Given the description of an element on the screen output the (x, y) to click on. 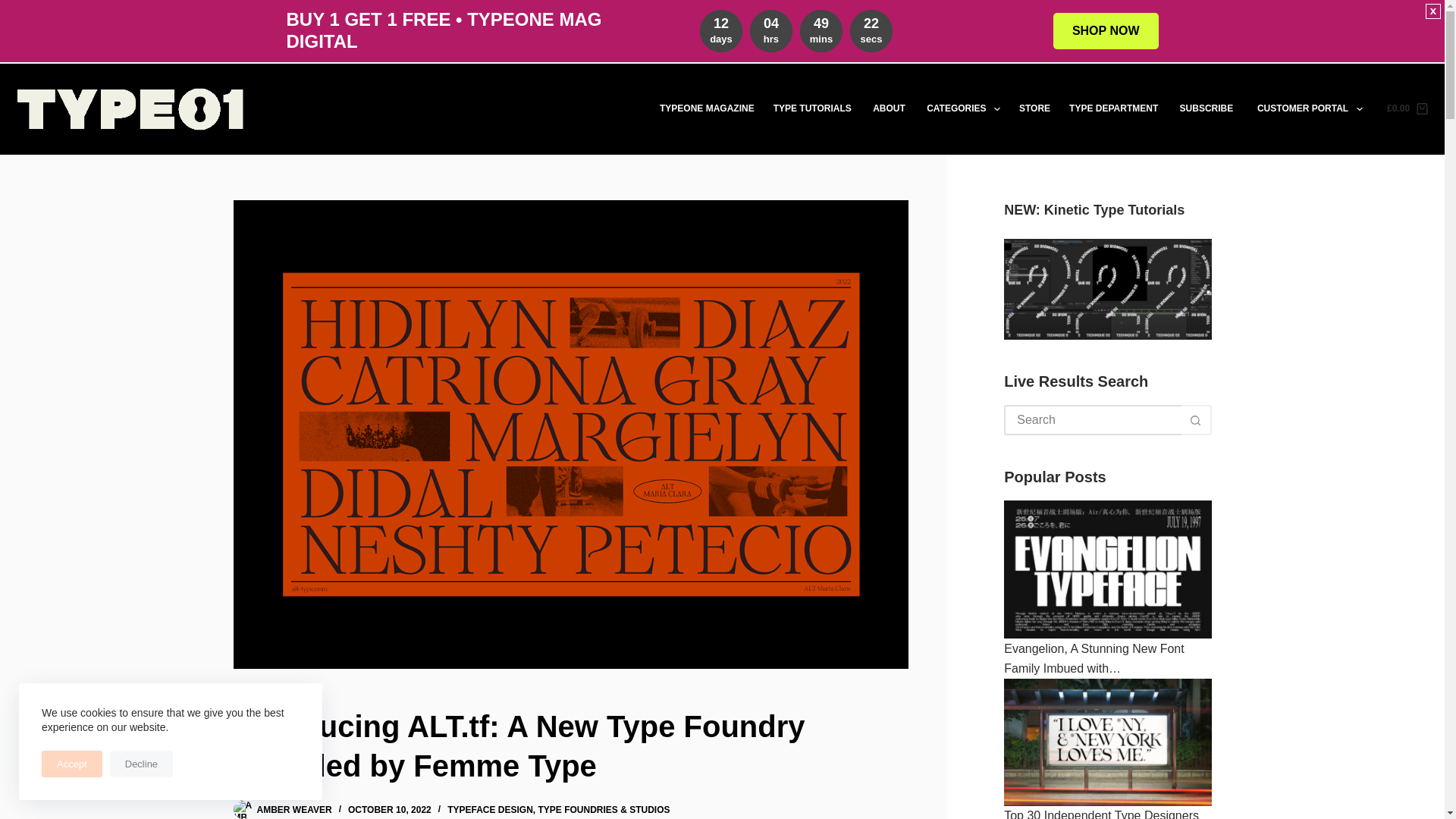
Accept (71, 764)
Top 30 Independent Type Designers To  Watch In 2021 (1107, 741)
Decline (141, 764)
TYPEONE MAGAZINE (705, 108)
Posts by Amber Weaver (293, 809)
Skip to content (15, 7)
CATEGORIES (963, 108)
Introducing ALT.tf: A New Type Foundry Founded by Femme Type (812, 108)
Search for... (570, 745)
